Given the description of an element on the screen output the (x, y) to click on. 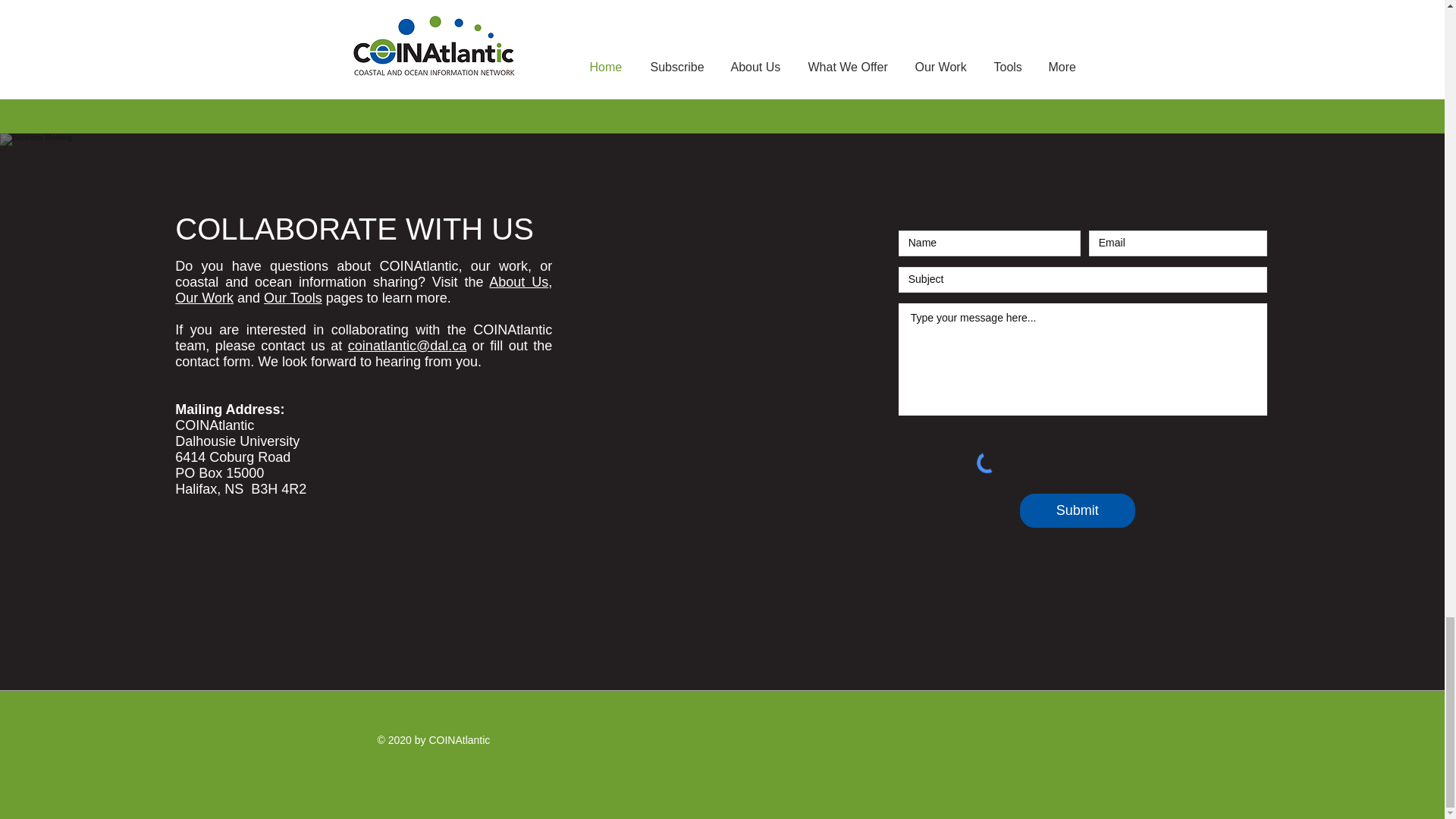
About Us (518, 281)
Submit (1077, 510)
Our Work (203, 297)
Our Tools (292, 297)
Subscribe (1021, 21)
